Given the description of an element on the screen output the (x, y) to click on. 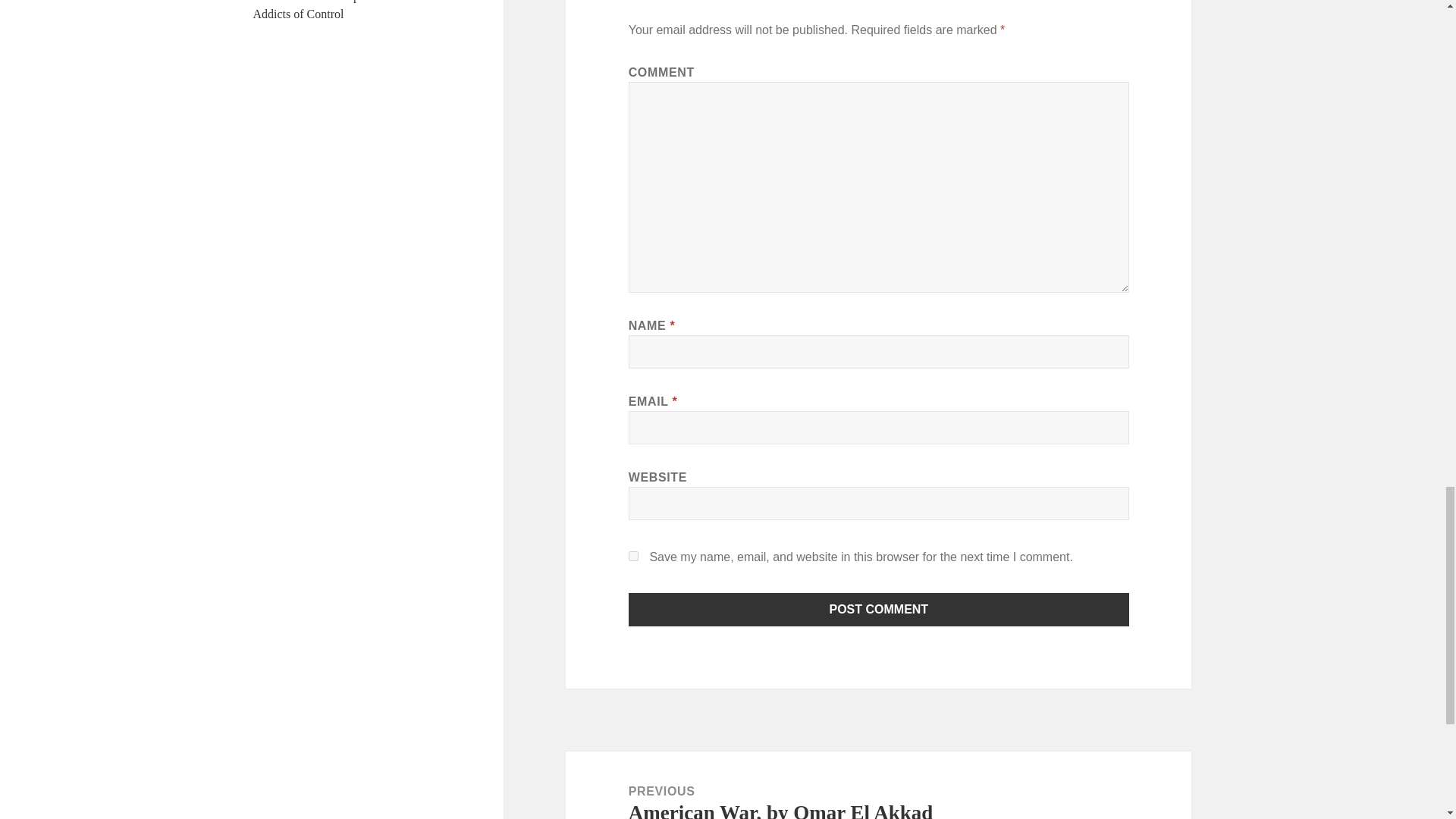
yes (633, 556)
Post Comment (878, 609)
Post Comment (878, 609)
